Given the description of an element on the screen output the (x, y) to click on. 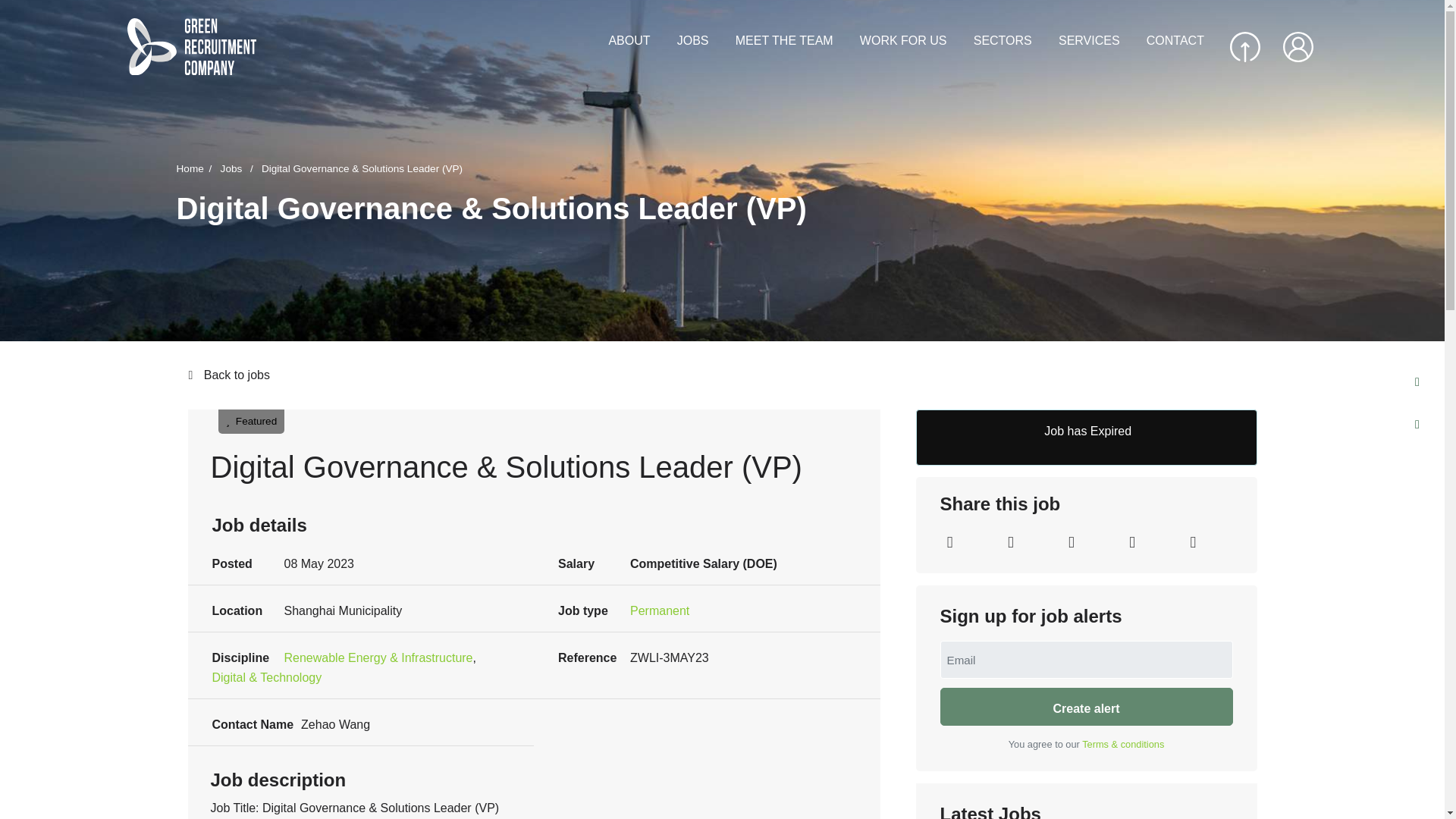
WORK FOR US (903, 40)
ABOUT (628, 40)
Home (196, 168)
LinkedIn (949, 543)
SERVICES (1088, 40)
Share on Facebook (1071, 543)
Jobs (240, 168)
Tweet this (1010, 543)
Email (1131, 543)
CONTACT (1175, 40)
MEET THE TEAM (783, 40)
Permanent (659, 610)
SECTORS (1003, 40)
Send in Whatsapp (1192, 543)
Create alert (1086, 706)
